Given the description of an element on the screen output the (x, y) to click on. 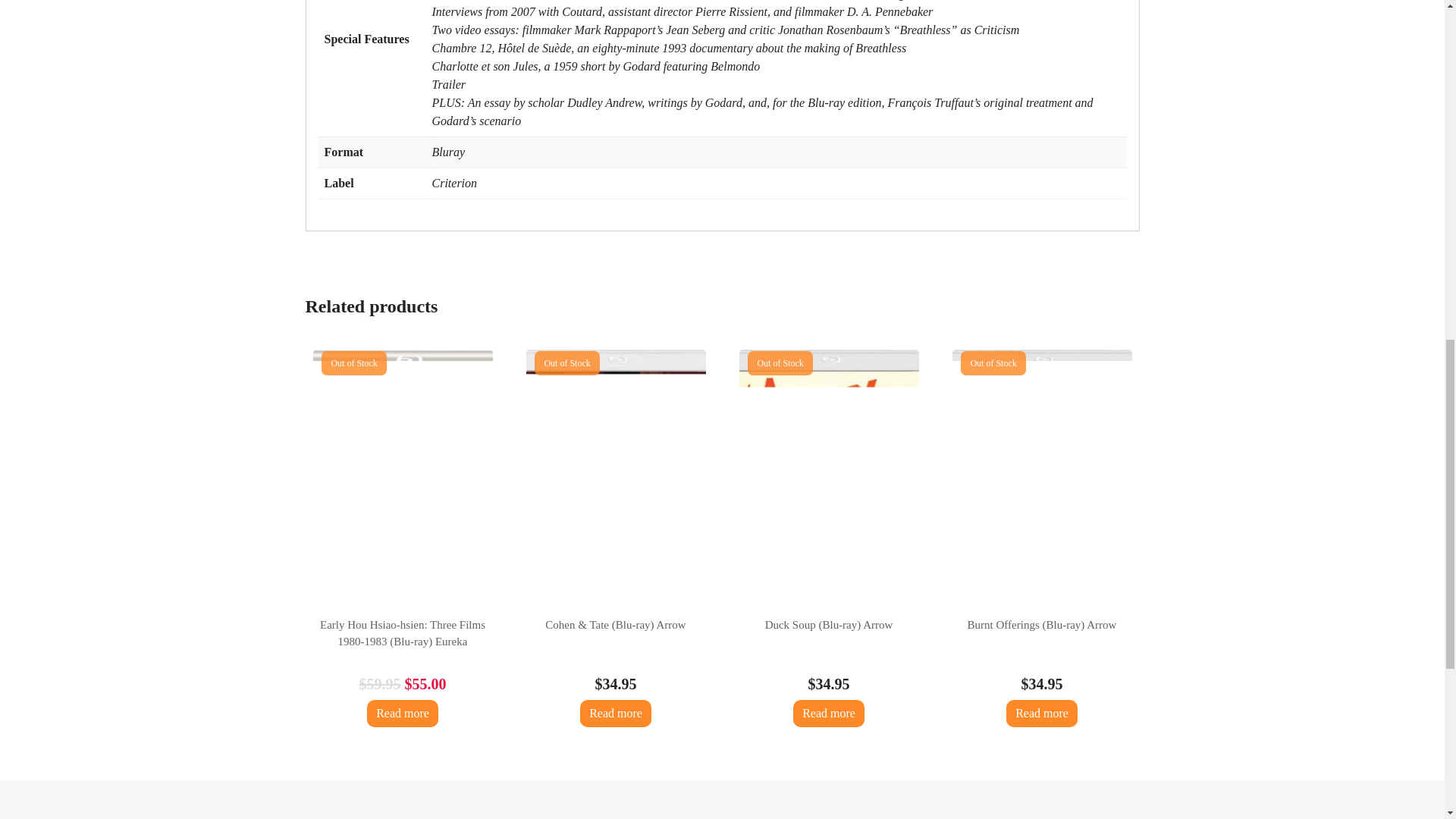
Read more (614, 713)
Read more (828, 713)
Read more (402, 713)
